Given the description of an element on the screen output the (x, y) to click on. 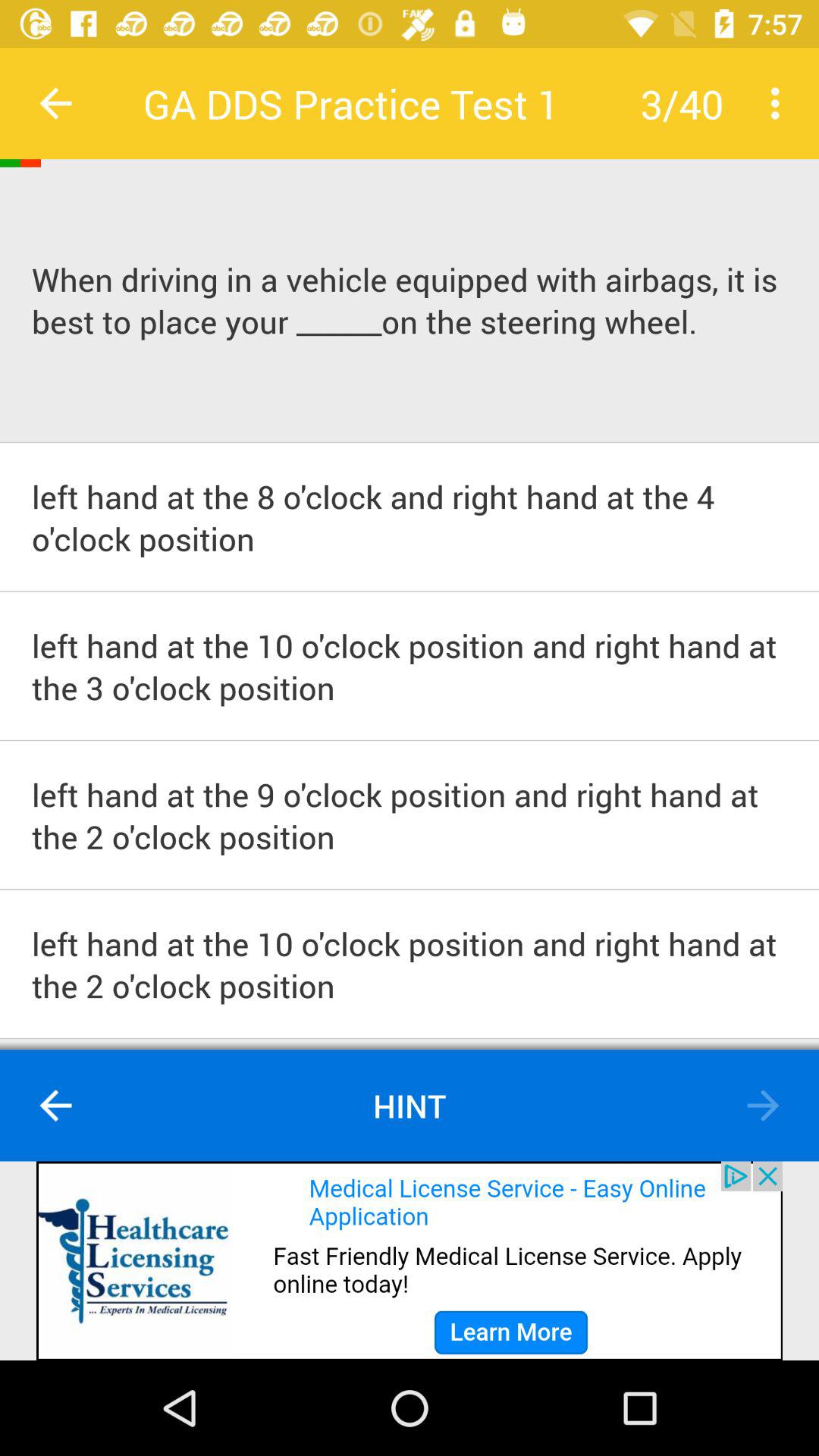
go to previous (763, 1105)
